Given the description of an element on the screen output the (x, y) to click on. 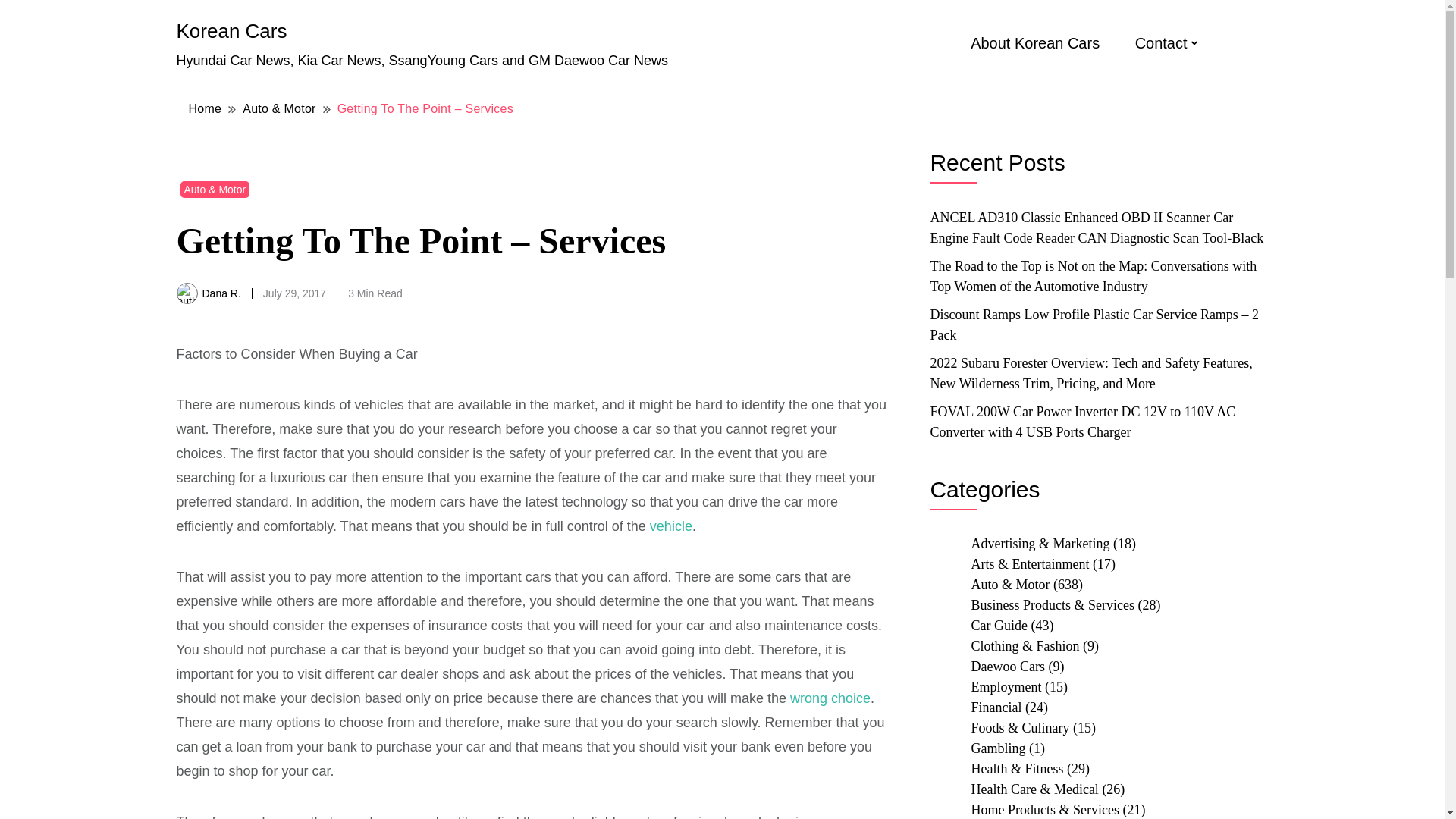
vehicle (671, 525)
Dana R. (221, 293)
wrong choice (830, 698)
July 29, 2017 (294, 293)
Home (204, 108)
Contact (1161, 43)
About Korean Cars (1035, 43)
Korean Cars (231, 30)
